Given the description of an element on the screen output the (x, y) to click on. 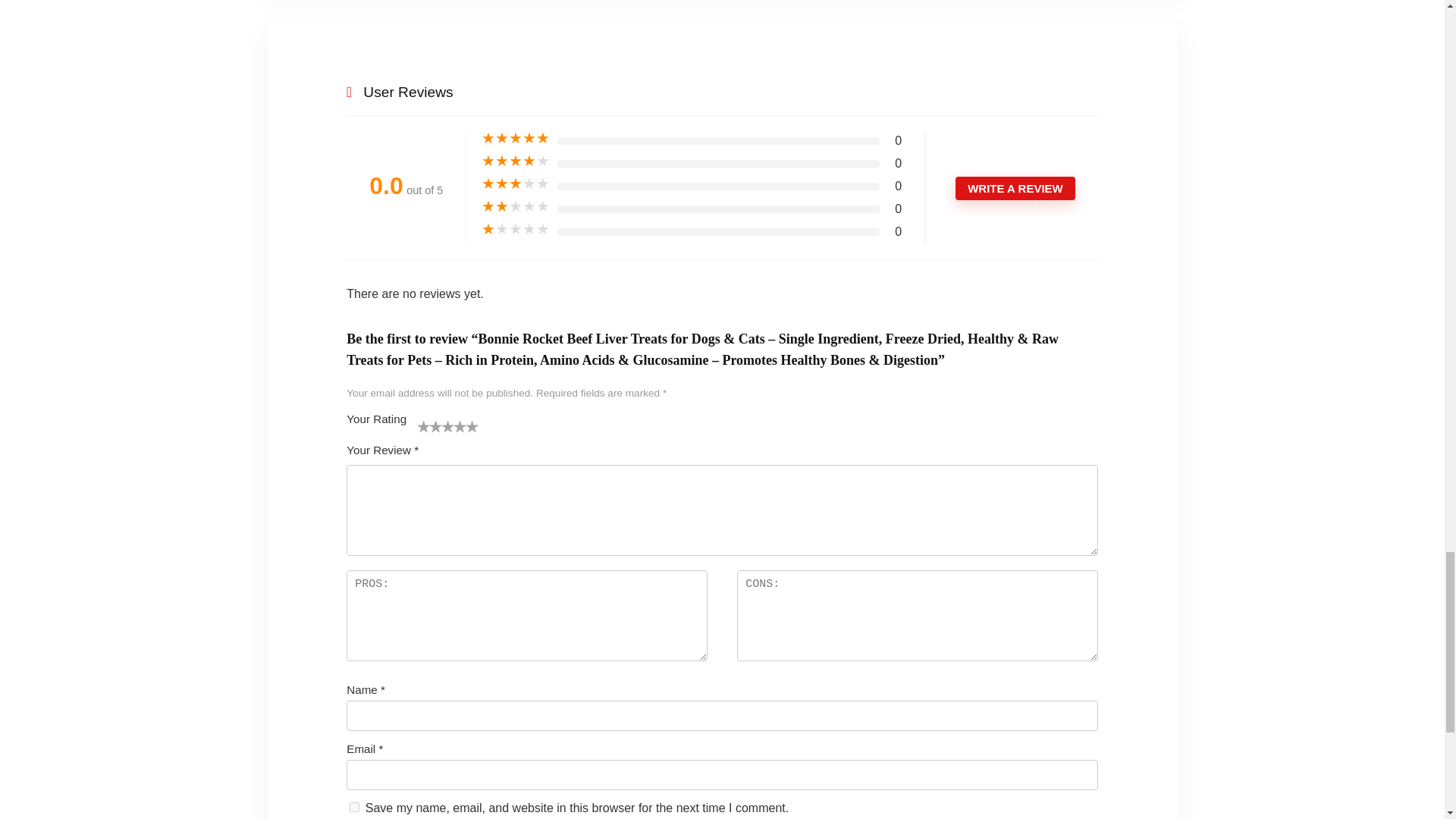
WRITE A REVIEW (1015, 187)
Rated 5 out of 5 (515, 138)
Rated 4 out of 5 (515, 160)
Rated 3 out of 5 (515, 183)
yes (354, 807)
Rated 1 out of 5 (515, 229)
Rated 2 out of 5 (515, 206)
